Given the description of an element on the screen output the (x, y) to click on. 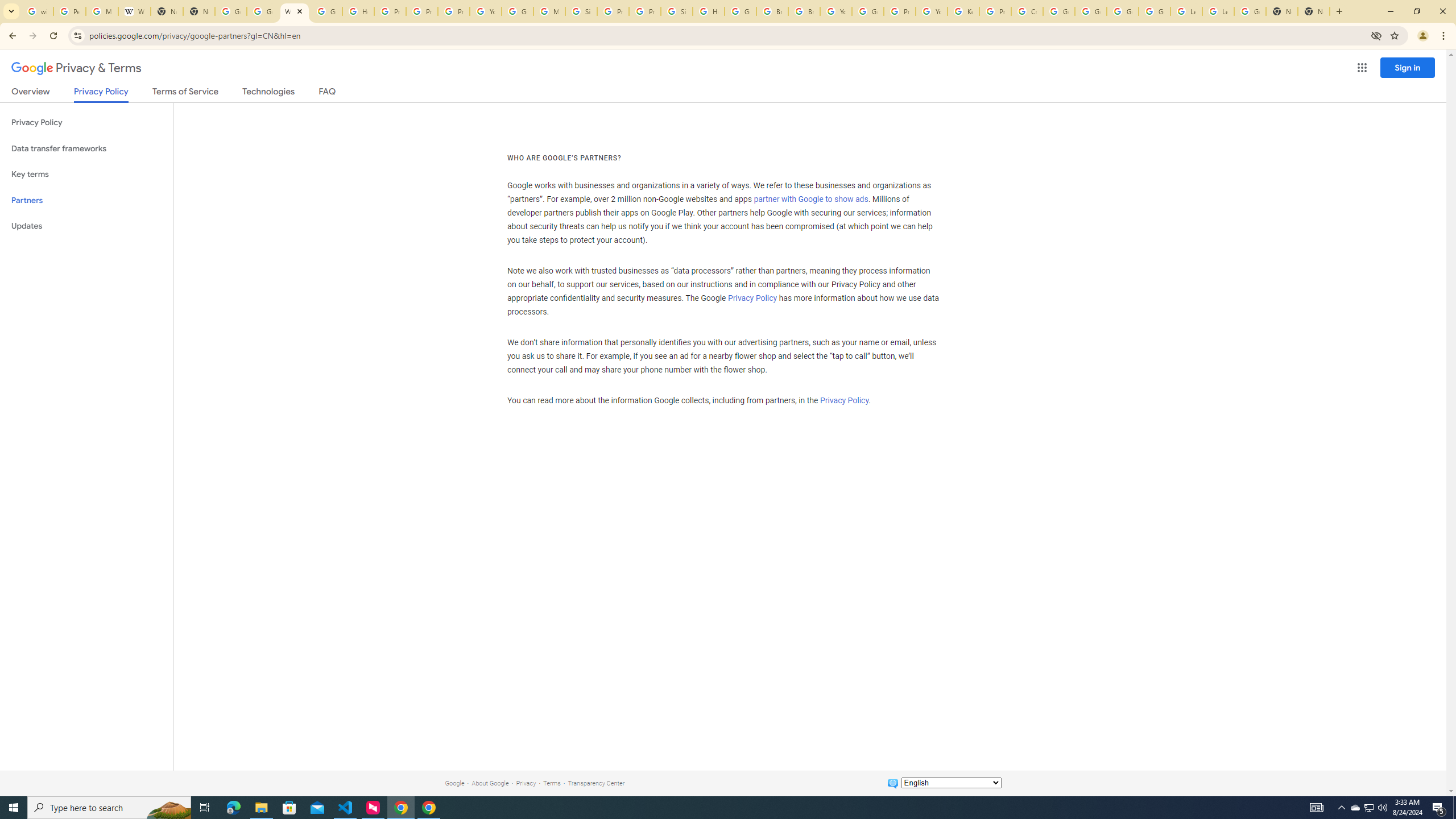
Manage your Location History - Google Search Help (101, 11)
Transparency Center (595, 783)
YouTube (485, 11)
Google Account Help (868, 11)
